Given the description of an element on the screen output the (x, y) to click on. 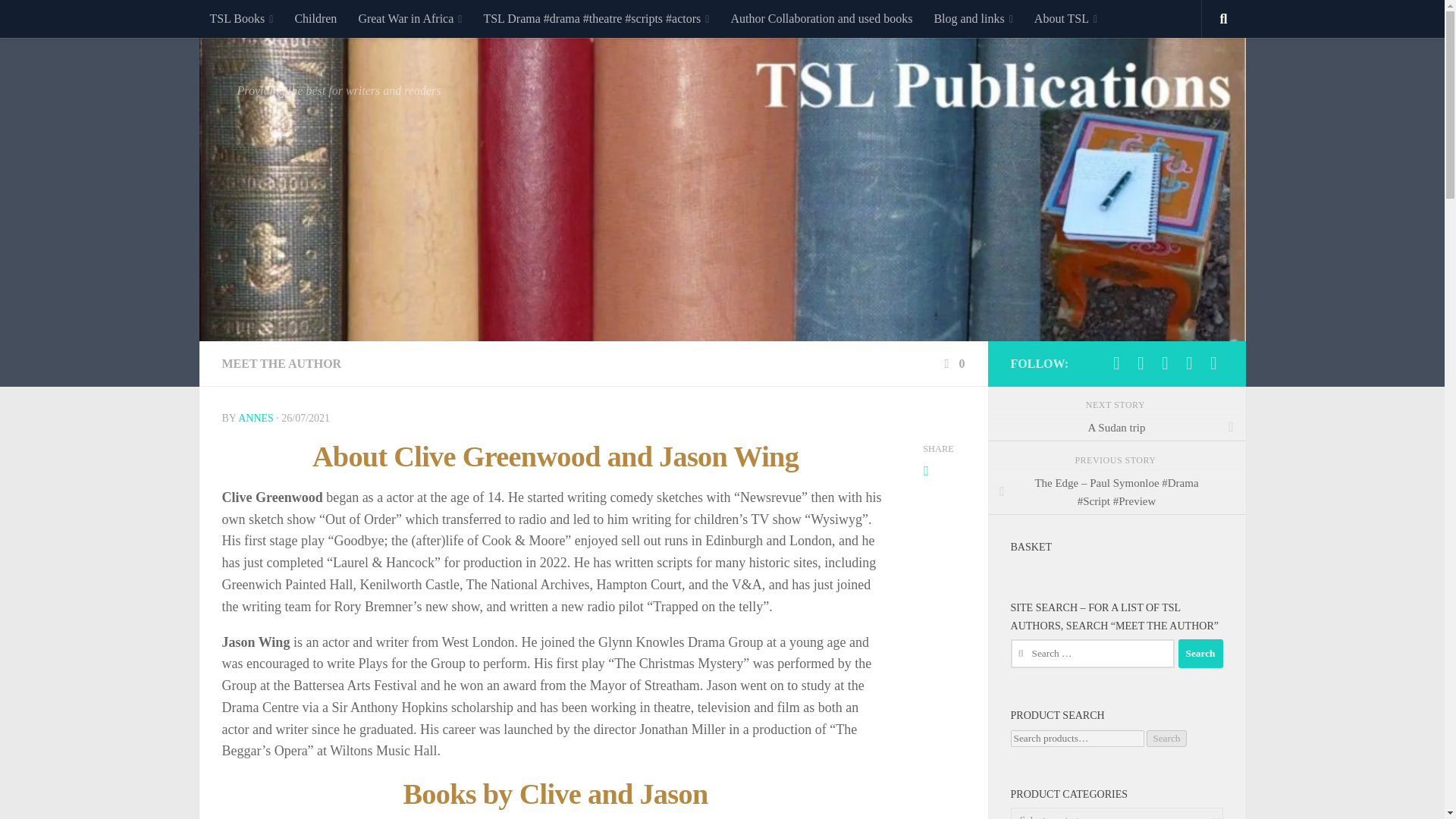
Author Collaboration and used books (821, 18)
ANNES (255, 418)
Great War in Africa (409, 18)
TSL Books (240, 18)
Search (1200, 653)
Follow us on Instagram (1140, 362)
Follow us on Tumblr (1188, 362)
Blog and links (973, 18)
Follow us on Mastodon (1115, 362)
0 (951, 363)
Follow us on Facebook (1164, 362)
MEET THE AUTHOR (280, 363)
Posts by AnneS (255, 418)
Follow us on Pinterest (1213, 362)
About TSL (1065, 18)
